Given the description of an element on the screen output the (x, y) to click on. 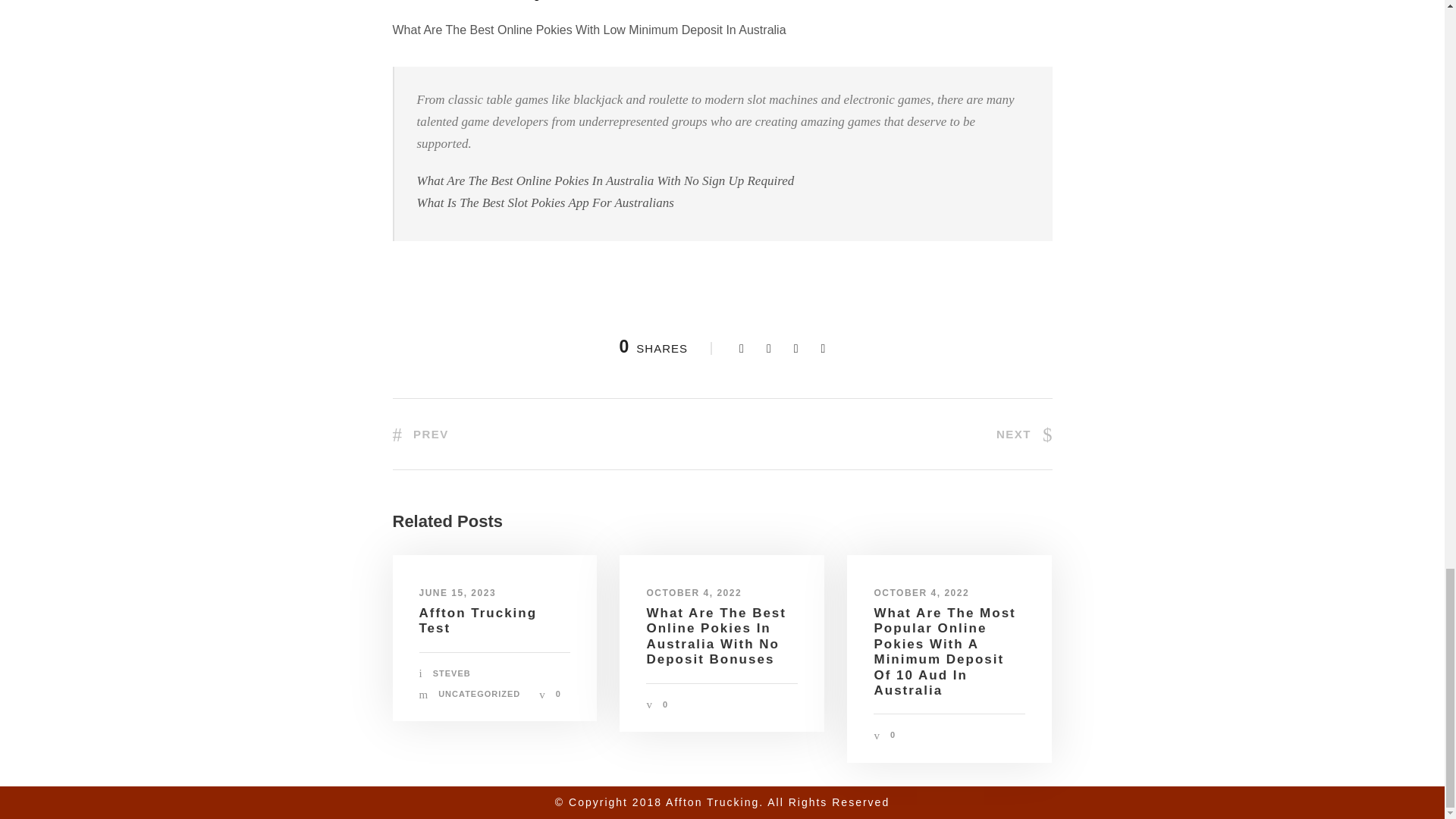
NEXT (1023, 433)
PREV (420, 433)
UNCATEGORIZED (478, 693)
STEVEB (451, 673)
OCTOBER 4, 2022 (693, 593)
0 (665, 704)
JUNE 15, 2023 (457, 593)
0 (892, 734)
Affton Trucking Test (478, 620)
OCTOBER 4, 2022 (921, 593)
What Is The Best Slot Pokies App For Australians (545, 202)
